Given the description of an element on the screen output the (x, y) to click on. 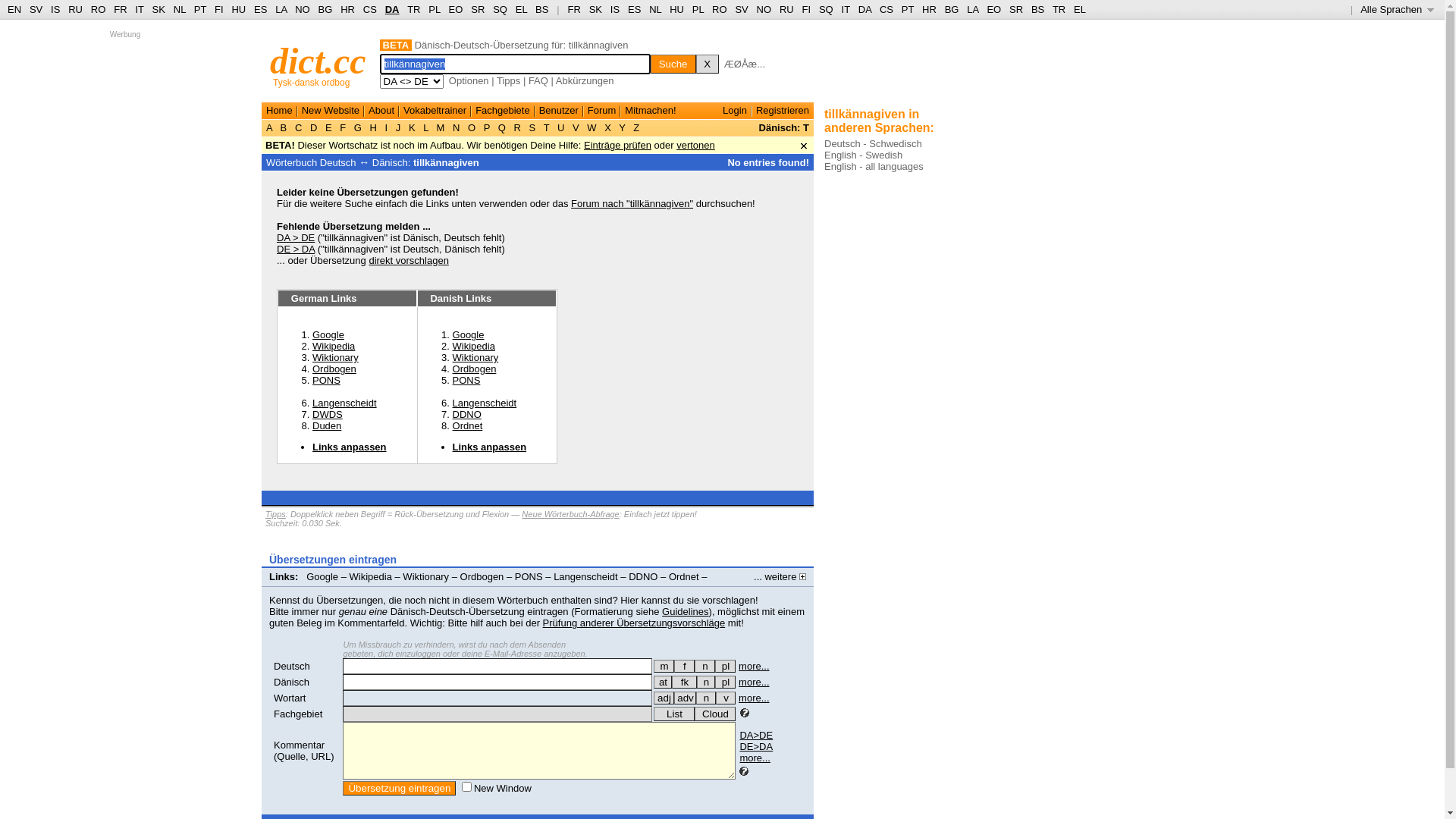
DA Element type: text (864, 9)
DE > DA Element type: text (295, 248)
CS Element type: text (886, 9)
New Website Element type: text (330, 110)
S Element type: text (532, 127)
SV Element type: text (740, 9)
RO Element type: text (98, 9)
F Element type: text (342, 127)
RU Element type: text (75, 9)
die - weiblich (Femininum) Element type: hover (684, 665)
m Element type: text (663, 665)
DA Element type: text (392, 9)
Fachgebiete Element type: text (502, 110)
for verber Element type: hover (662, 681)
J Element type: text (397, 127)
EL Element type: text (521, 9)
Links anpassen Element type: text (489, 446)
PONS Element type: text (326, 379)
Langenscheidt Element type: text (344, 402)
DDNO Element type: text (642, 576)
SK Element type: text (595, 9)
Ordbogen Element type: text (482, 576)
Mitmachen! Element type: text (649, 110)
EN Element type: text (14, 9)
Tipps Element type: text (275, 513)
DA > DE Element type: text (295, 237)
Suche Element type: text (673, 63)
fk Element type: text (683, 681)
Langenscheidt Element type: text (484, 402)
IT Element type: text (845, 9)
NL Element type: text (179, 9)
X Element type: text (608, 127)
Langenscheidt Element type: text (585, 576)
Wikipedia Element type: text (370, 576)
EO Element type: text (455, 9)
ES Element type: text (260, 9)
IS Element type: text (614, 9)
Deutsch - Schwedisch Element type: text (873, 143)
n Element type: text (705, 681)
LA Element type: text (972, 9)
Ordbogen Element type: text (474, 368)
PONS Element type: text (466, 379)
Wiktionary Element type: text (475, 357)
G Element type: text (357, 127)
BS Element type: text (1037, 9)
O Element type: text (470, 127)
Google Element type: text (328, 334)
D Element type: text (313, 127)
A Element type: text (270, 127)
SK Element type: text (158, 9)
BS Element type: text (541, 9)
English - all languages Element type: text (873, 166)
SV Element type: text (35, 9)
R Element type: text (517, 127)
vertonen Element type: text (695, 144)
PONS Element type: text (528, 576)
n Element type: text (704, 665)
English - Swedish Element type: text (863, 154)
CS Element type: text (369, 9)
EL Element type: text (1079, 9)
DDNO Element type: text (466, 414)
L Element type: text (425, 127)
IT Element type: text (138, 9)
Cloud Element type: text (714, 713)
pl Element type: text (725, 681)
Wikipedia Element type: text (333, 345)
BG Element type: text (325, 9)
more... Element type: text (753, 697)
Google Element type: text (468, 334)
Duden Element type: text (326, 425)
About Element type: text (381, 110)
SR Element type: text (477, 9)
Ordnet Element type: text (467, 425)
I Element type: text (386, 127)
M Element type: text (440, 127)
Z Element type: text (636, 127)
Login Element type: text (734, 110)
Links anpassen Element type: text (306, 587)
K Element type: text (411, 127)
Wikipedia Element type: text (473, 345)
IS Element type: text (54, 9)
SQ Element type: text (499, 9)
RU Element type: text (786, 9)
die - Mehrzahl (Plural) Element type: hover (725, 665)
Ordnet Element type: text (683, 576)
RO Element type: text (719, 9)
N Element type: text (455, 127)
PT Element type: text (200, 9)
H Element type: text (373, 127)
Alle Sprachen  Element type: text (1397, 9)
EO Element type: text (993, 9)
Forum Element type: text (601, 110)
pl Element type: text (725, 665)
adj Element type: text (663, 697)
NL Element type: text (655, 9)
Links anpassen Element type: text (349, 446)
... weitere Element type: text (779, 576)
BG Element type: text (951, 9)
E Element type: text (328, 127)
Wiktionary Element type: text (335, 357)
PL Element type: text (433, 9)
more... Element type: text (754, 757)
HU Element type: text (676, 9)
adv Element type: text (685, 697)
v Element type: text (725, 697)
HR Element type: text (347, 9)
FI Element type: text (806, 9)
n Element type: text (705, 697)
Benutzer Element type: text (558, 110)
Wiktionary Element type: text (425, 576)
Optionen Element type: text (468, 80)
Y Element type: text (621, 127)
DWDS Element type: text (327, 414)
FR Element type: text (573, 9)
PT Element type: text (907, 9)
flertal Element type: hover (725, 681)
Google Element type: text (322, 576)
FR Element type: text (119, 9)
X Element type: text (707, 63)
Vokabeltrainer Element type: text (434, 110)
more... Element type: text (753, 665)
SR Element type: text (1015, 9)
V Element type: text (575, 127)
T Element type: text (546, 127)
DA>DE Element type: text (755, 734)
Guidelines Element type: text (685, 611)
Deutsch Element type: text (291, 665)
TR Element type: text (1058, 9)
DE>DA Element type: text (755, 746)
P Element type: text (486, 127)
LA Element type: text (280, 9)
NO Element type: text (302, 9)
FAQ Element type: text (538, 80)
U Element type: text (560, 127)
ES Element type: text (633, 9)
HU Element type: text (238, 9)
Tipps Element type: text (508, 80)
Home Element type: text (279, 110)
B Element type: text (283, 127)
dict.cc Element type: text (317, 60)
FI Element type: text (218, 9)
PL Element type: text (697, 9)
at Element type: text (662, 681)
Registrieren Element type: text (782, 110)
TR Element type: text (413, 9)
List Element type: text (673, 713)
f Element type: text (684, 665)
W Element type: text (591, 127)
more... Element type: text (753, 681)
HR Element type: text (929, 9)
Q Element type: text (501, 127)
direkt vorschlagen Element type: text (408, 260)
SQ Element type: text (826, 9)
C Element type: text (297, 127)
Ordbogen Element type: text (334, 368)
NO Element type: text (763, 9)
